Given the description of an element on the screen output the (x, y) to click on. 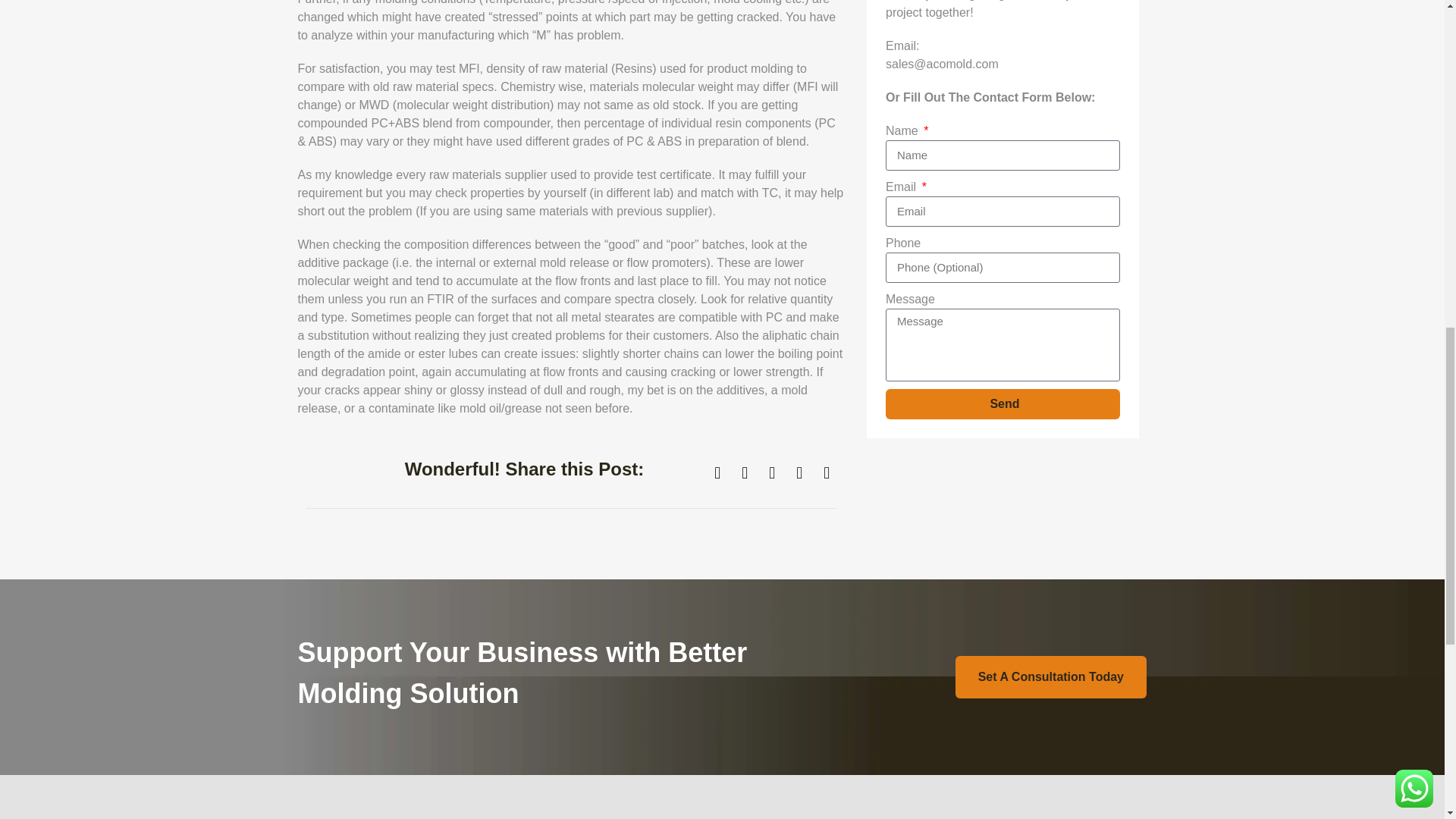
Send (1002, 403)
Set A Consultation Today (1051, 677)
